Given the description of an element on the screen output the (x, y) to click on. 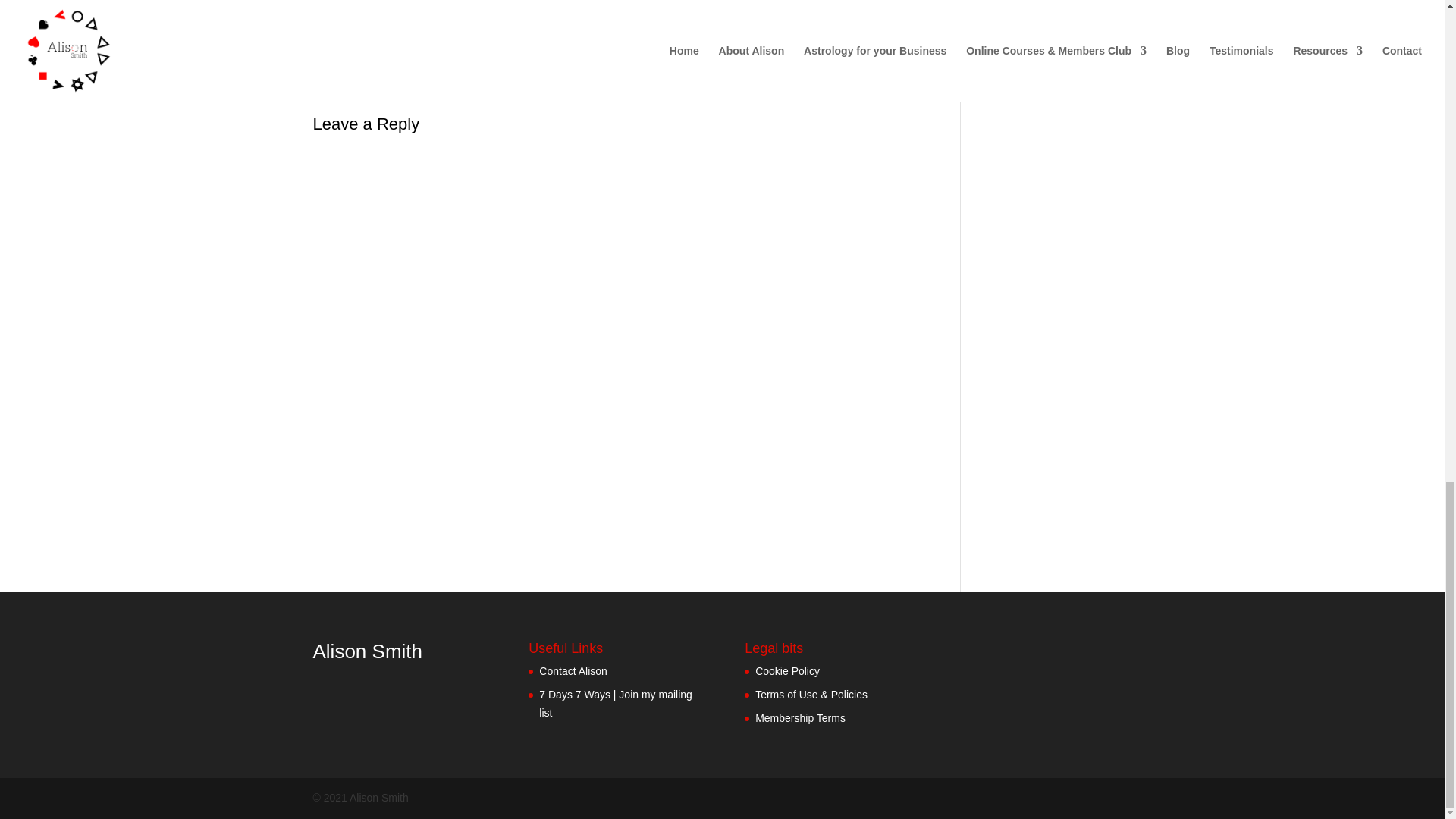
Contact Alison (572, 671)
Cookie Policy (787, 671)
